Given the description of an element on the screen output the (x, y) to click on. 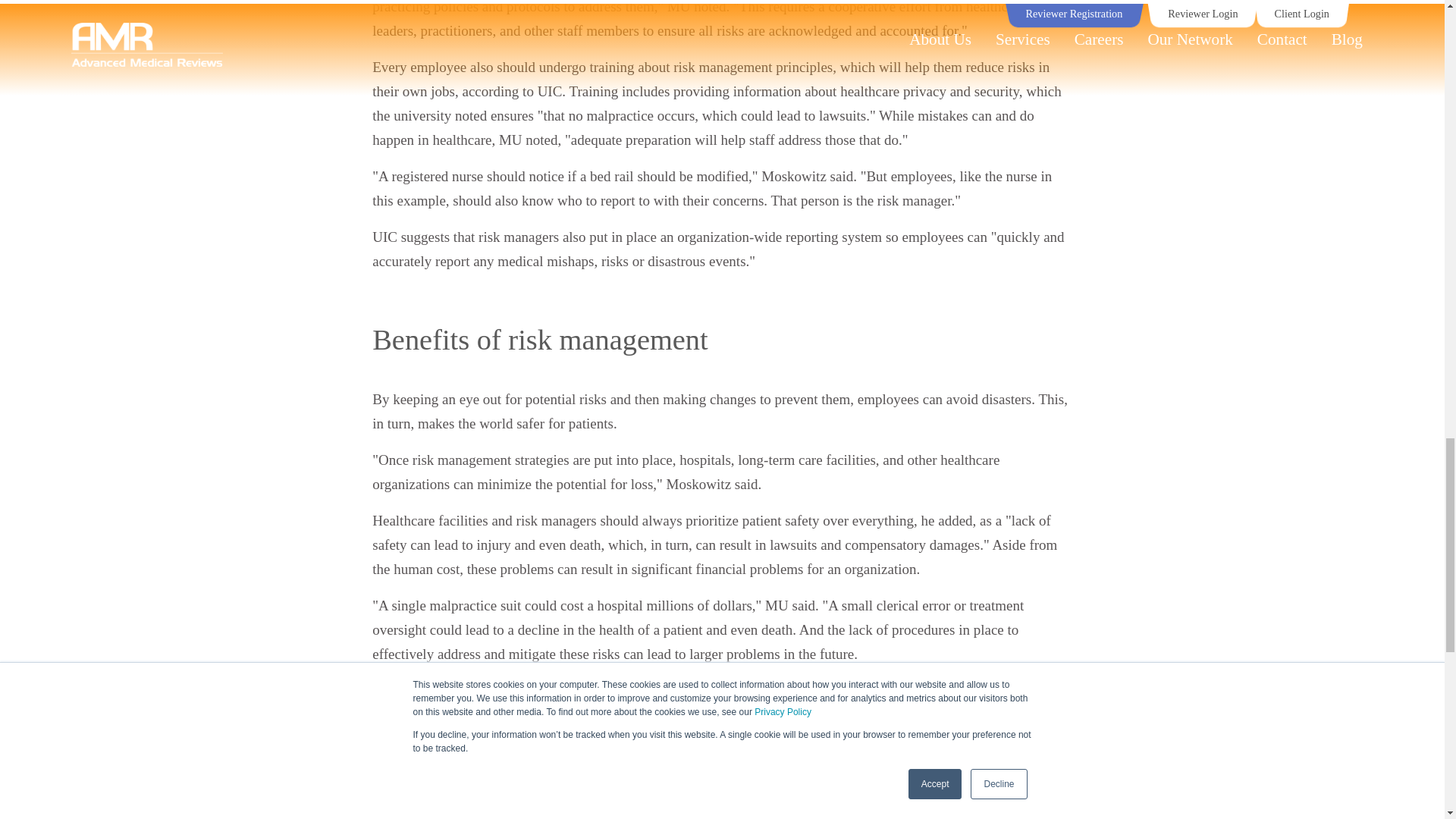
Advanced Medical Reviews (423, 726)
